Given the description of an element on the screen output the (x, y) to click on. 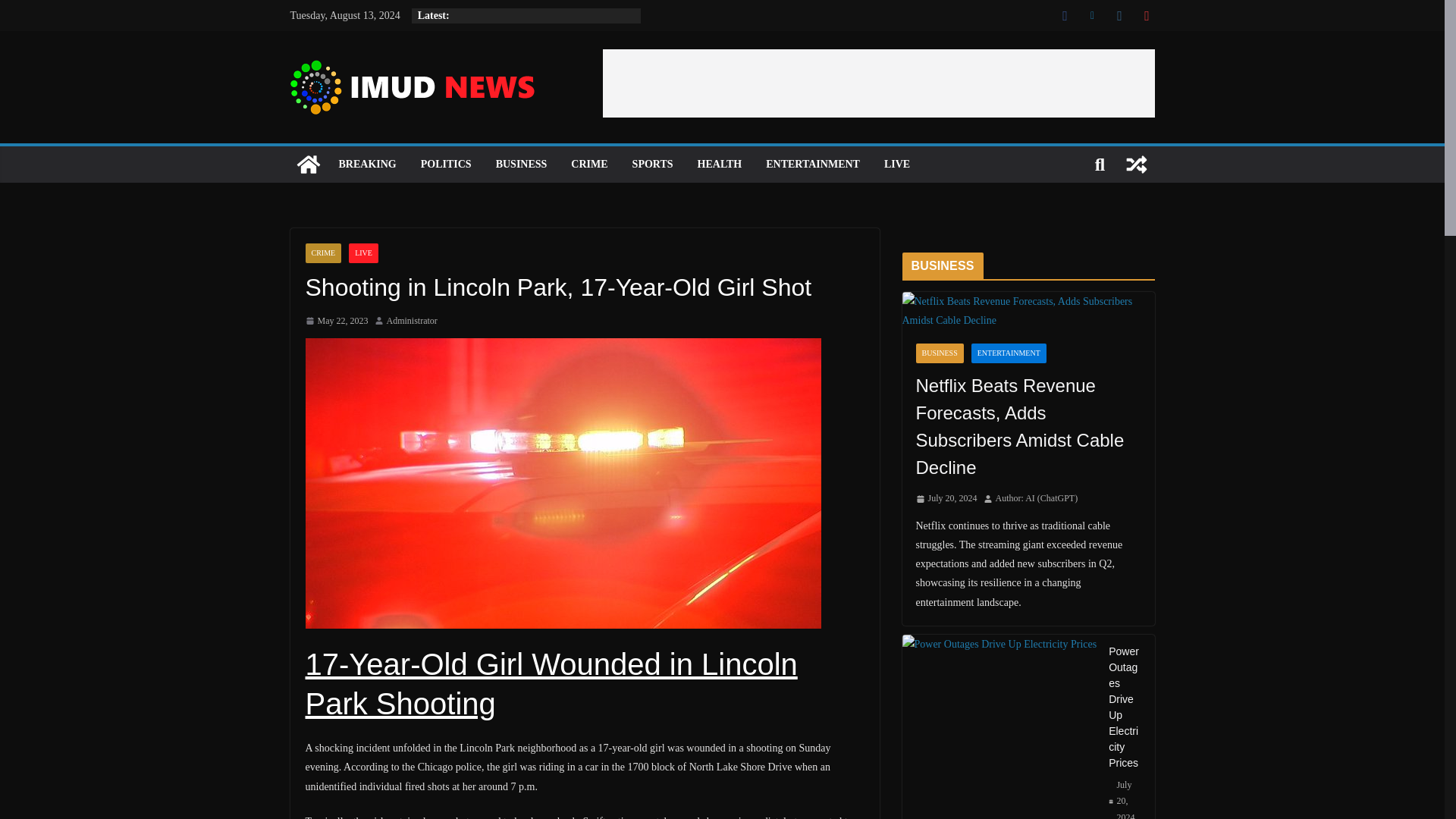
View a random post (1136, 164)
CRIME (322, 252)
BUSINESS (521, 164)
Administrator (412, 321)
BREAKING (366, 164)
May 22, 2023 (336, 321)
Administrator (412, 321)
IMUD News (307, 164)
ENTERTAINMENT (812, 164)
SPORTS (651, 164)
